Given the description of an element on the screen output the (x, y) to click on. 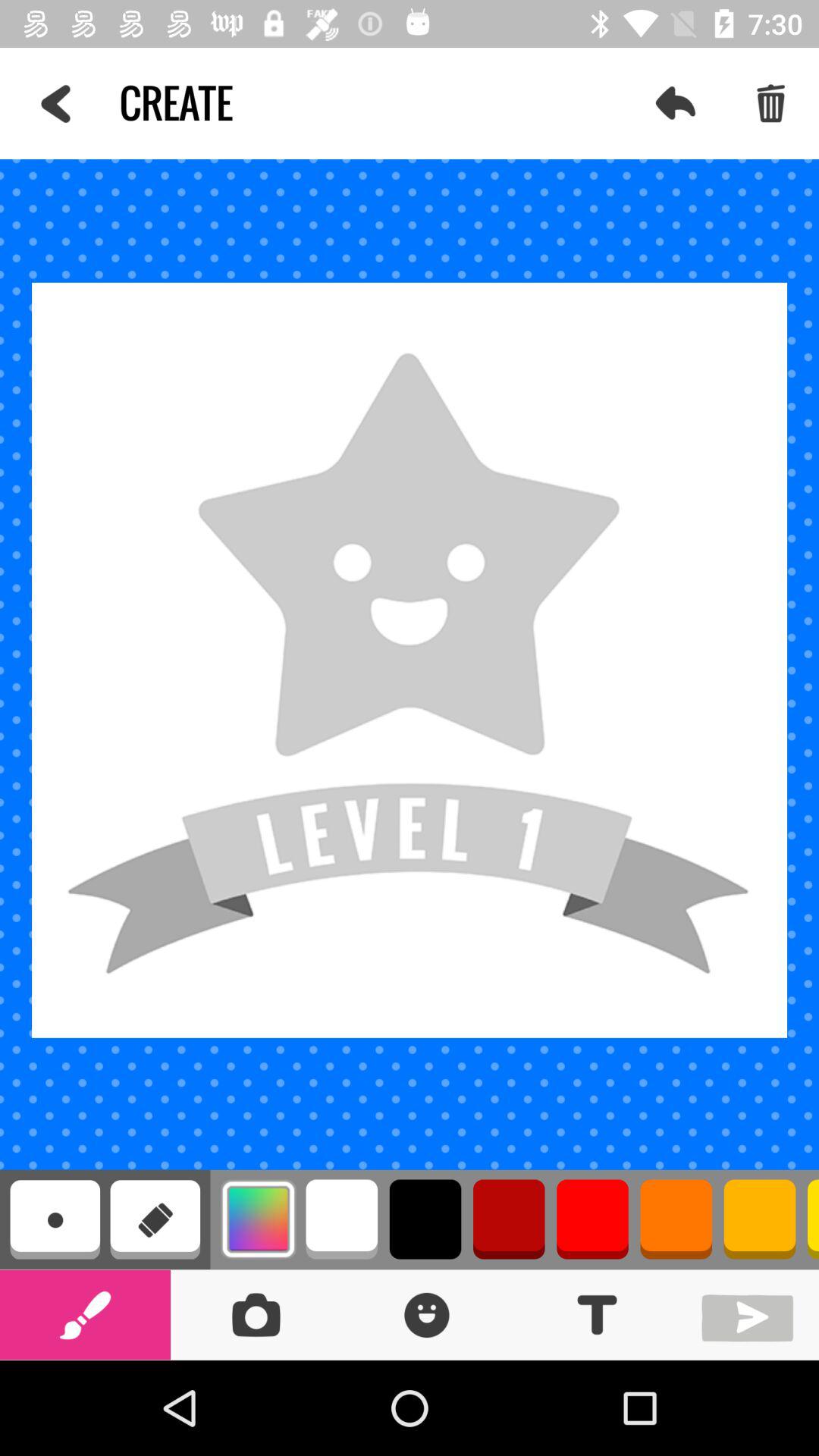
pencil to paint (85, 1314)
